Given the description of an element on the screen output the (x, y) to click on. 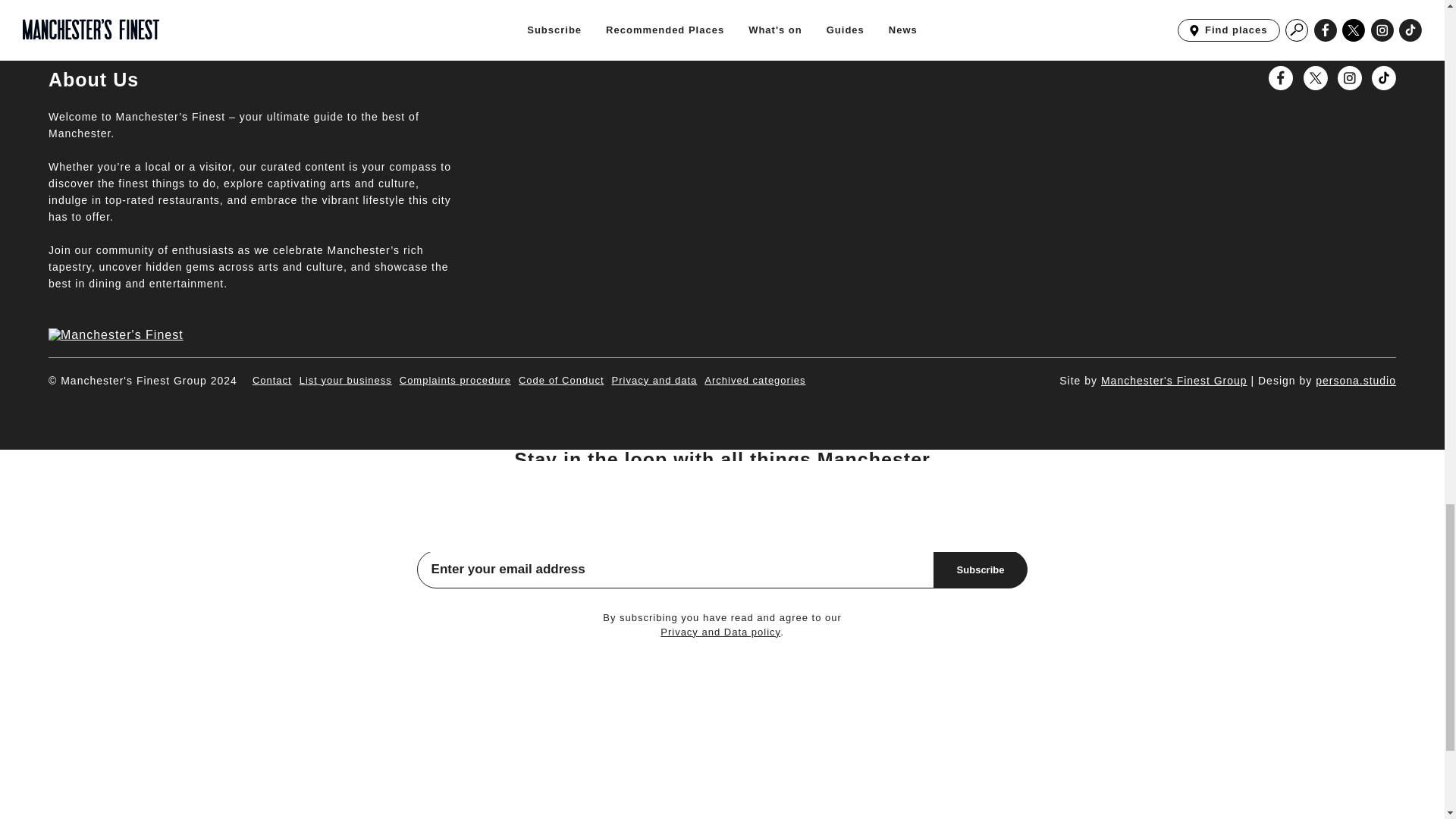
Go to Manchester's Finest X profile (1315, 78)
Go to Manchester's Finest Instagram profile (1349, 78)
Go to Manchester's Finest TikTok profile (1383, 78)
Go to Manchester's Finest Facebook page (1280, 78)
